Given the description of an element on the screen output the (x, y) to click on. 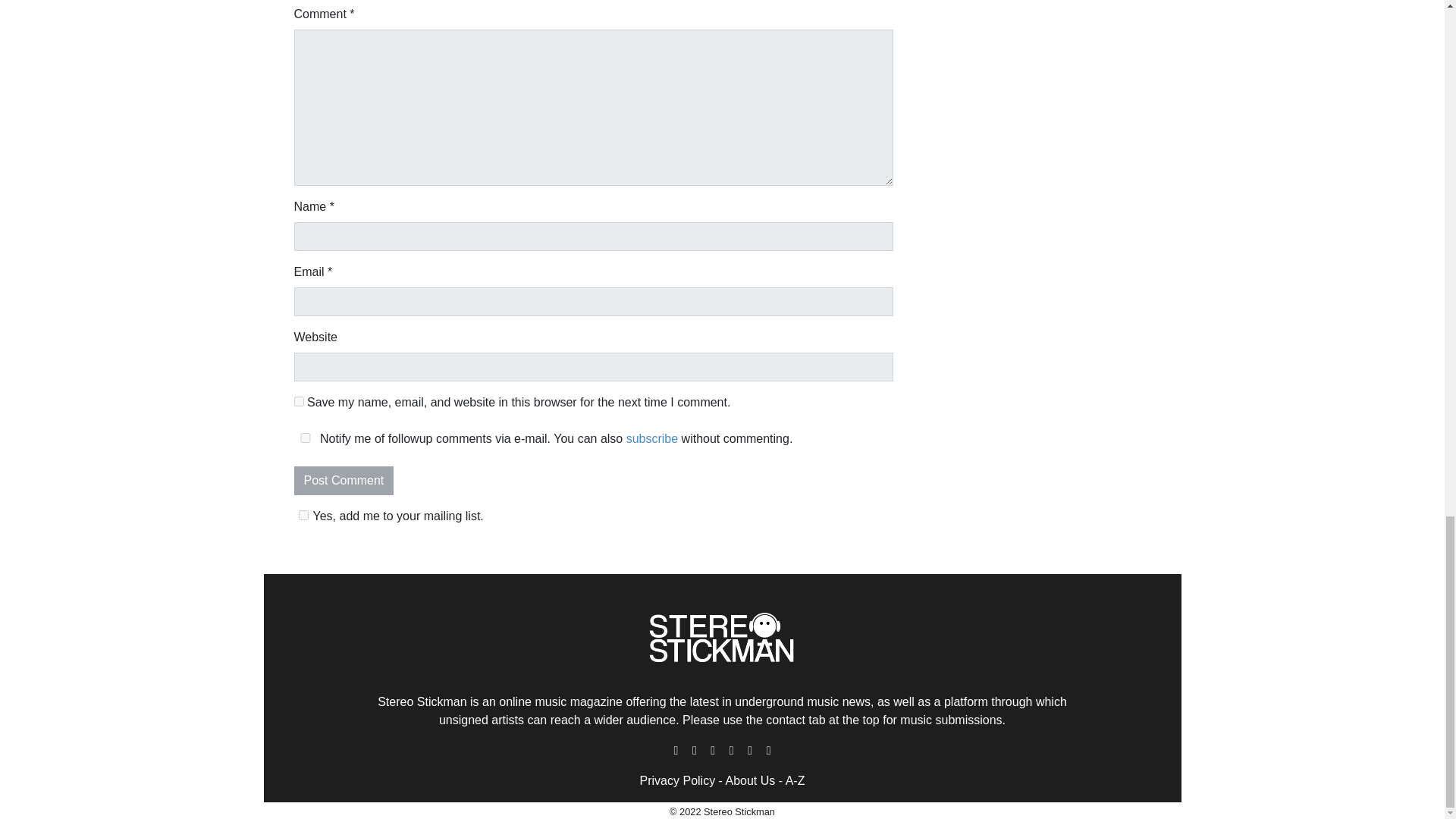
Post Comment (344, 480)
Post Comment (344, 480)
1 (303, 515)
subscribe (652, 438)
yes (305, 438)
yes (299, 401)
